Given the description of an element on the screen output the (x, y) to click on. 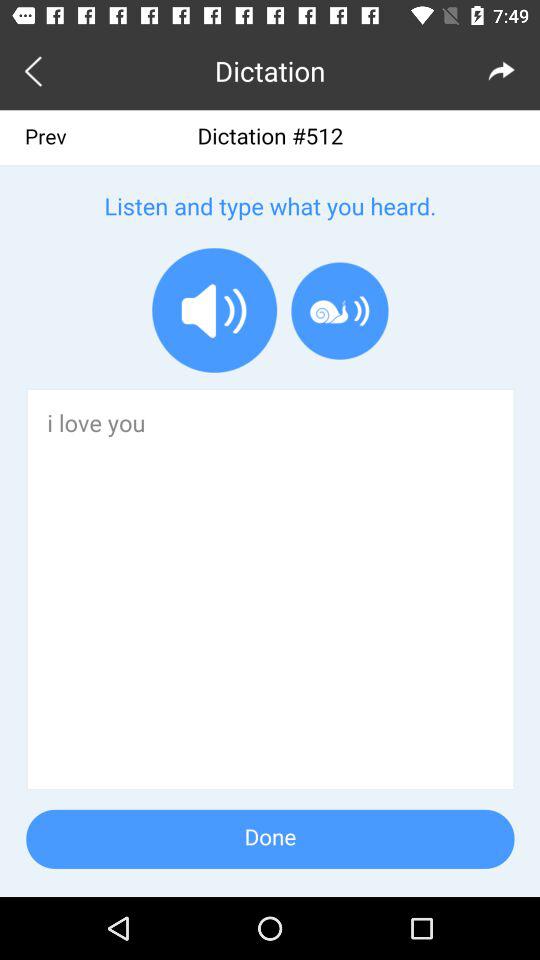
shows reverse symbol (36, 70)
